Given the description of an element on the screen output the (x, y) to click on. 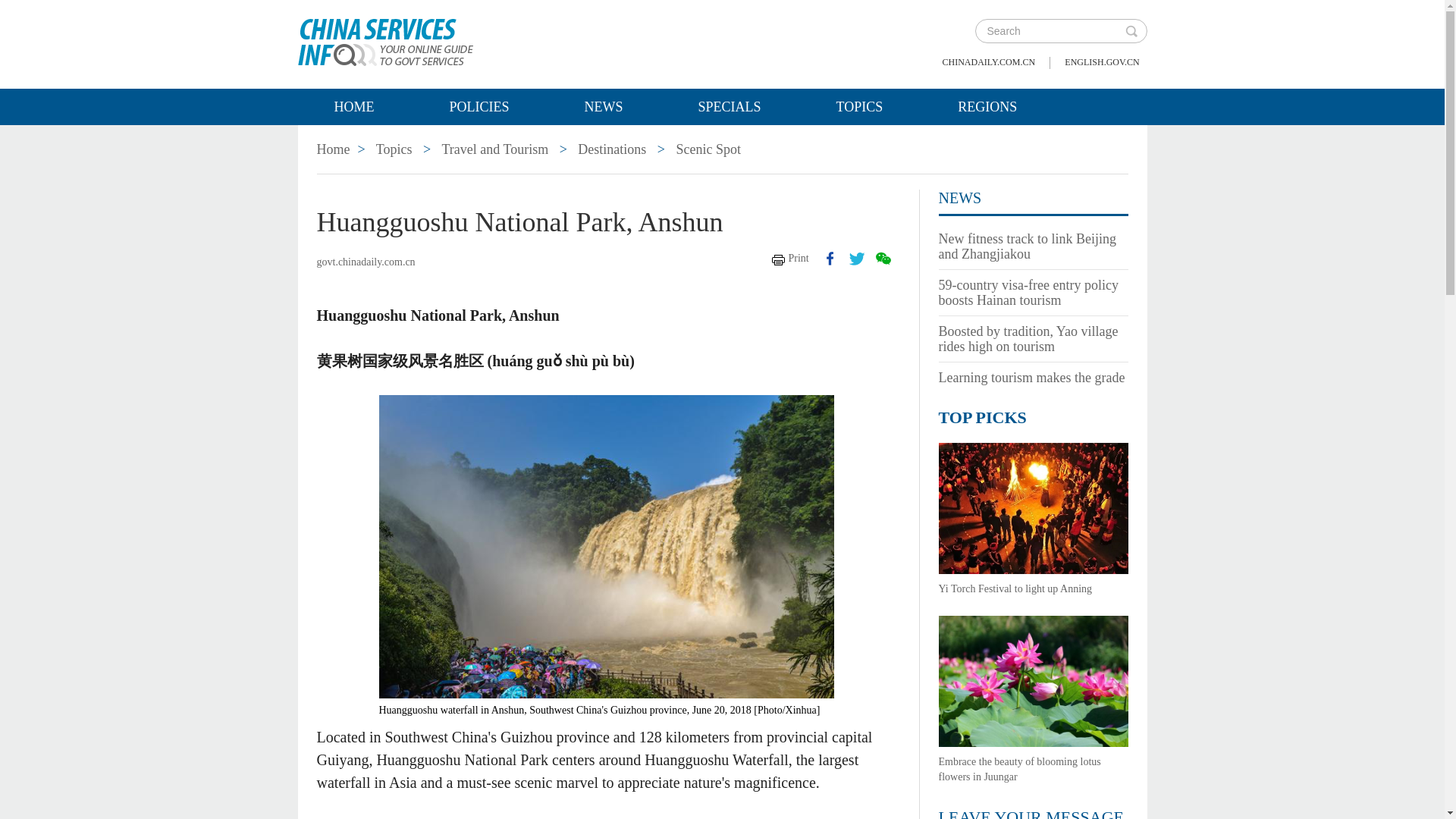
Policies (478, 106)
Travel and Tourism (494, 149)
TOP PICKS (982, 416)
Topics (393, 149)
LEAVE YOUR MESSAGE (1031, 813)
Embrace the beauty of blooming lotus flowers in Juungar (1019, 768)
Topics (393, 149)
HOME (353, 106)
REGIONS (986, 106)
ENGLISH.GOV.CN (1101, 61)
Destinations (612, 149)
NEWS (960, 197)
Scenic Spot (708, 149)
News (960, 197)
Scenic Spot (708, 149)
